Given the description of an element on the screen output the (x, y) to click on. 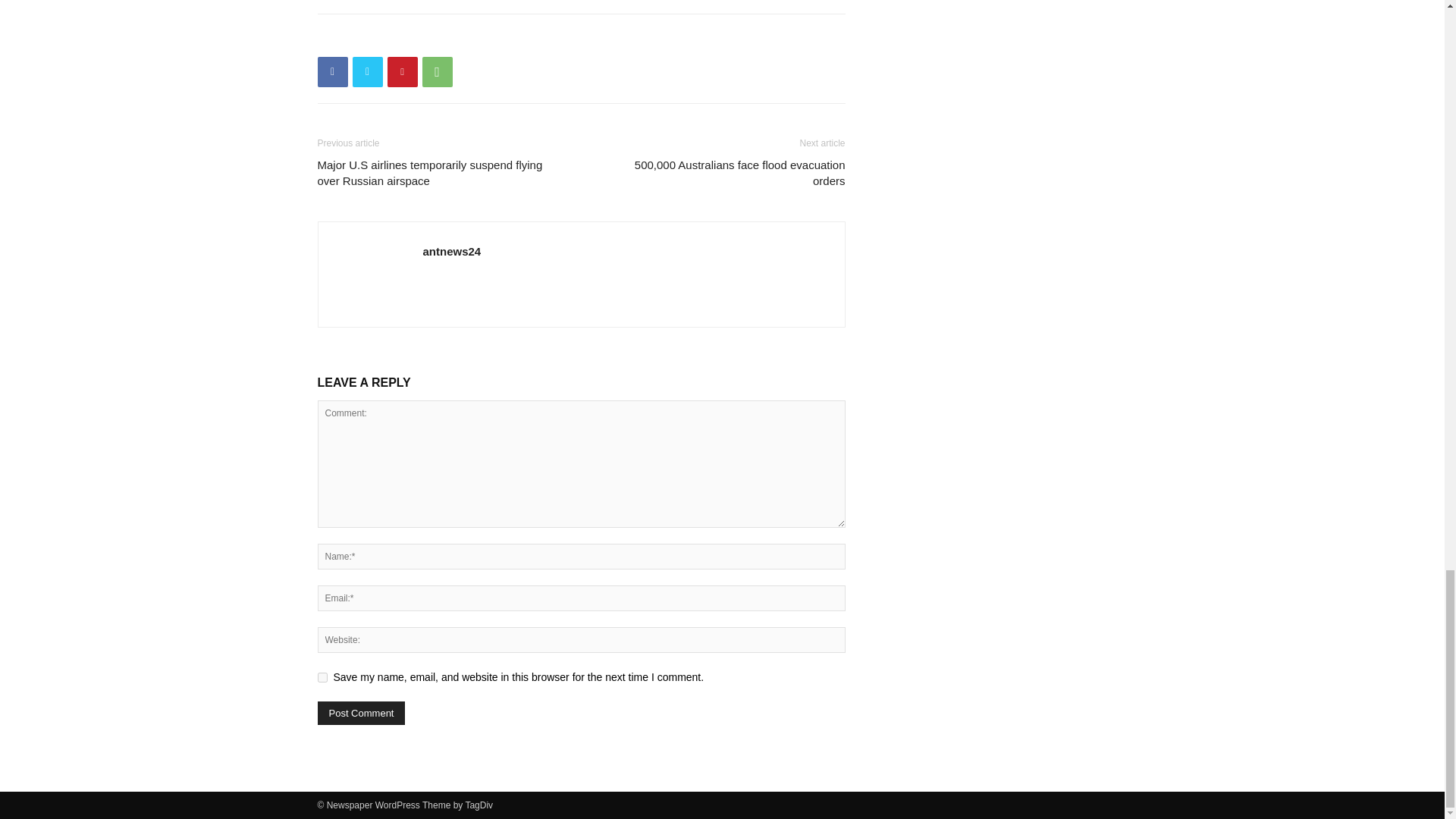
yes (321, 677)
Twitter (366, 71)
antnews24 (452, 250)
Pinterest (401, 71)
WhatsApp (436, 71)
Facebook (332, 71)
Post Comment (360, 712)
500,000 Australians face flood evacuation orders (721, 173)
Post Comment (360, 712)
